Given the description of an element on the screen output the (x, y) to click on. 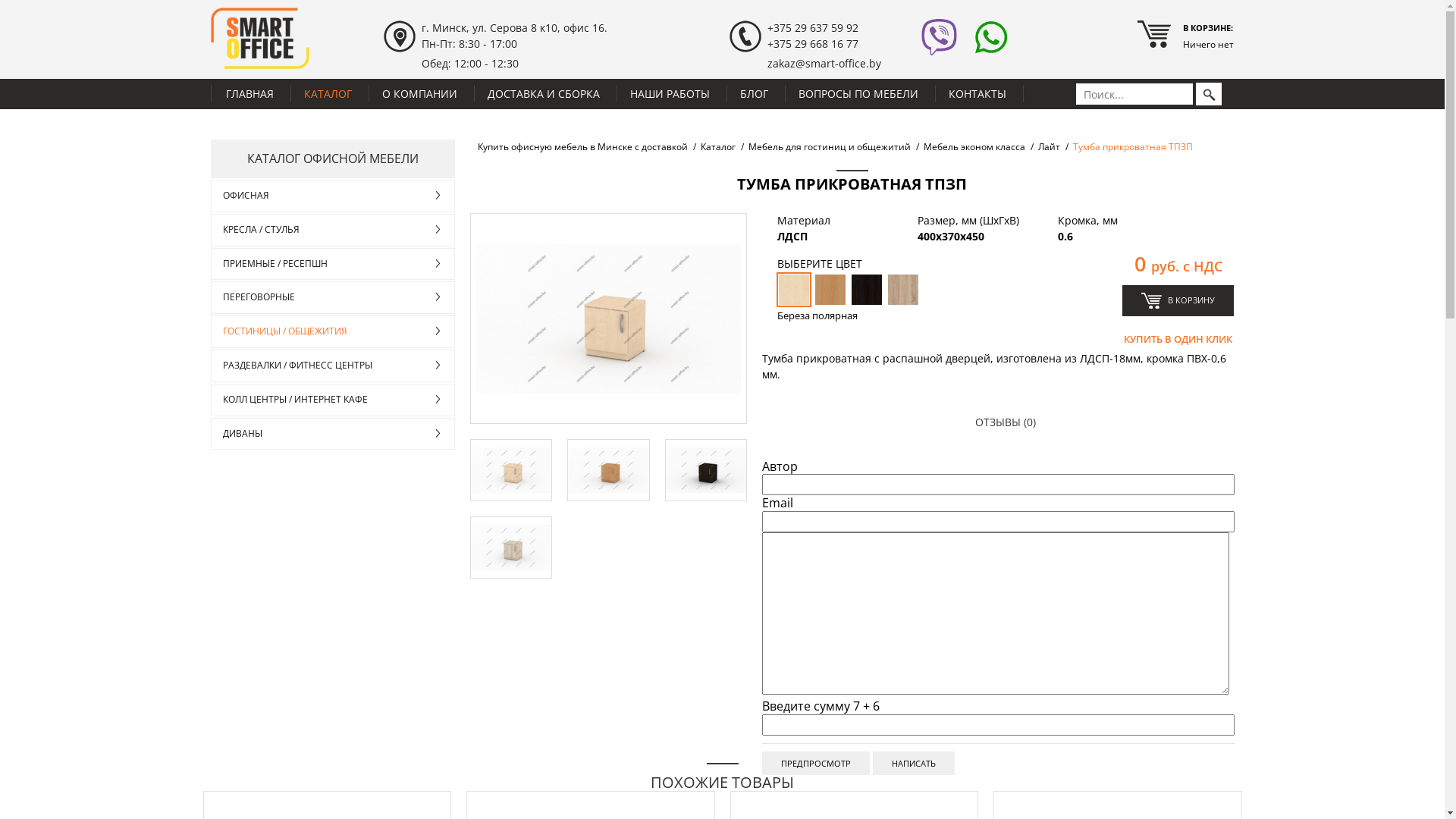
Ctrl + Enter Element type: hover (815, 763)
Ctrl + Shift + Enter Element type: hover (913, 763)
